Given the description of an element on the screen output the (x, y) to click on. 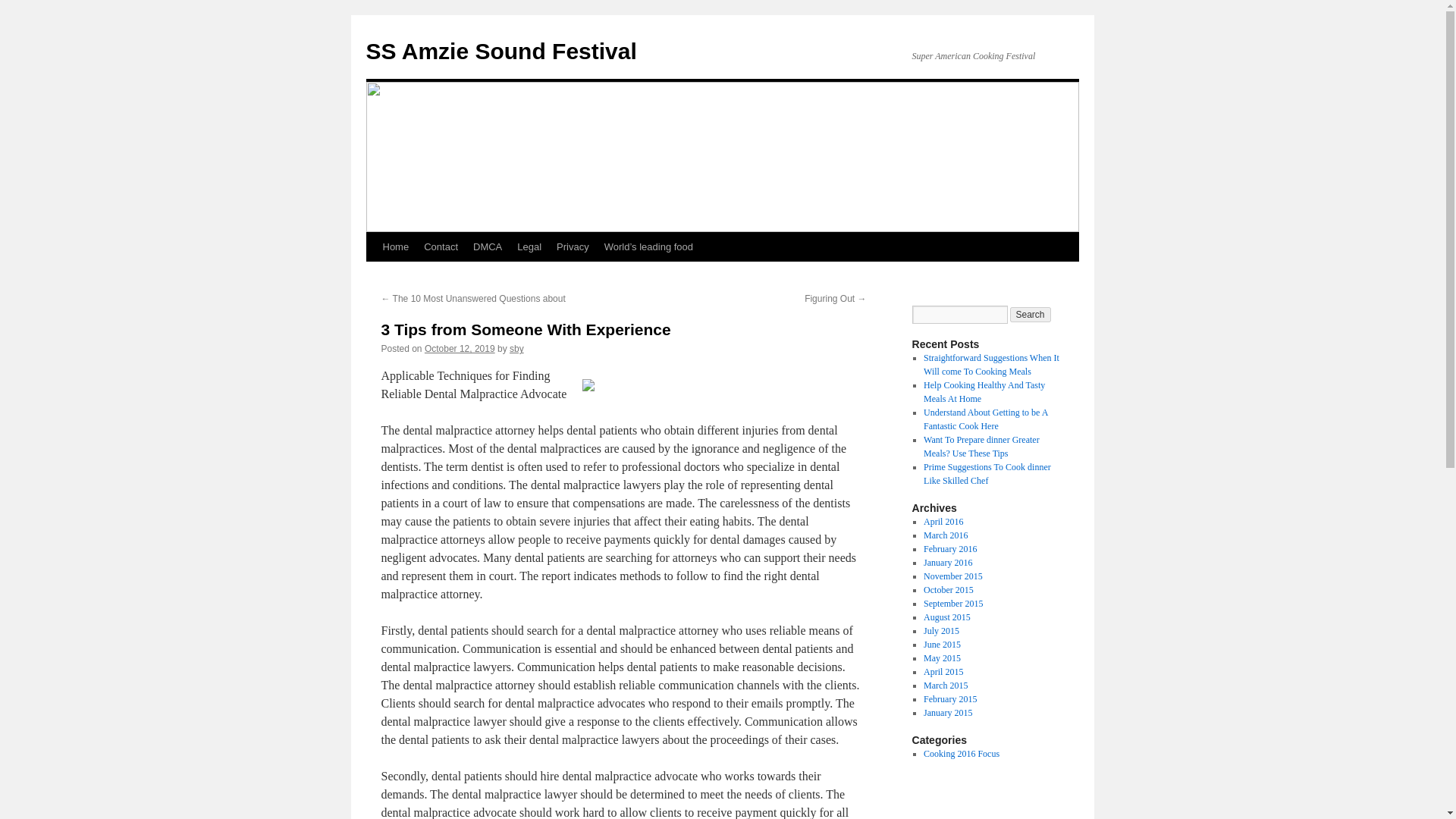
February 2015 (949, 698)
7:27 pm (460, 348)
Help Cooking Healthy And Tasty Meals At Home (984, 392)
Prime Suggestions To Cook dinner Like Skilled Chef (987, 473)
Search (1030, 314)
Understand About Getting to be A Fantastic Cook Here (985, 419)
March 2015 (945, 685)
Skip to content (372, 274)
March 2016 (945, 534)
SS Amzie Sound Festival (500, 50)
sby (516, 348)
September 2015 (952, 603)
Contact (440, 246)
View all posts by sby (516, 348)
